Given the description of an element on the screen output the (x, y) to click on. 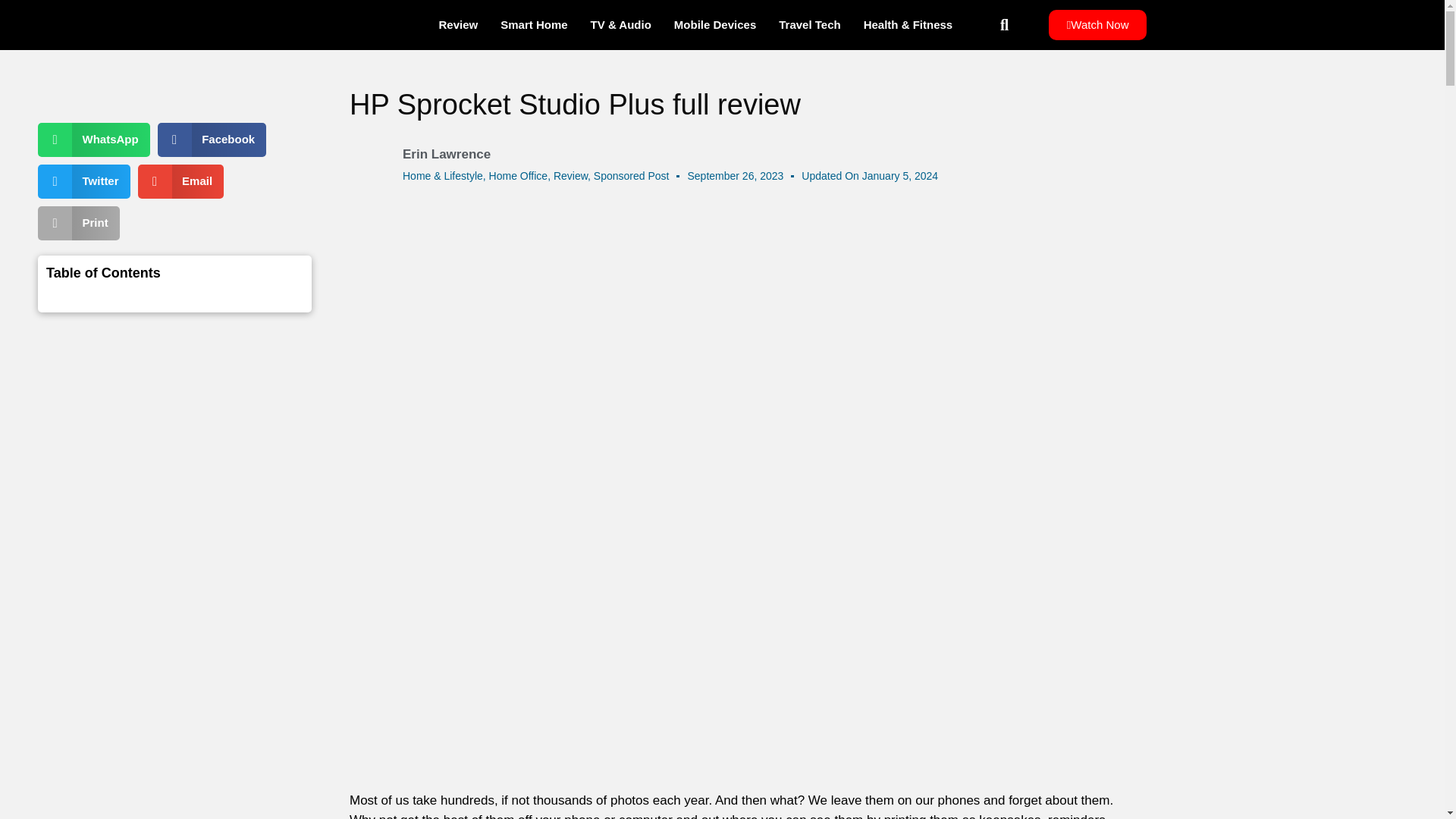
Sponsored Post (631, 175)
Smart Home (533, 24)
Travel Tech (809, 24)
September 26, 2023 (735, 176)
Watch Now (1097, 24)
Mobile Devices (714, 24)
Review (570, 175)
Home Office (518, 175)
Review (458, 24)
